Given the description of an element on the screen output the (x, y) to click on. 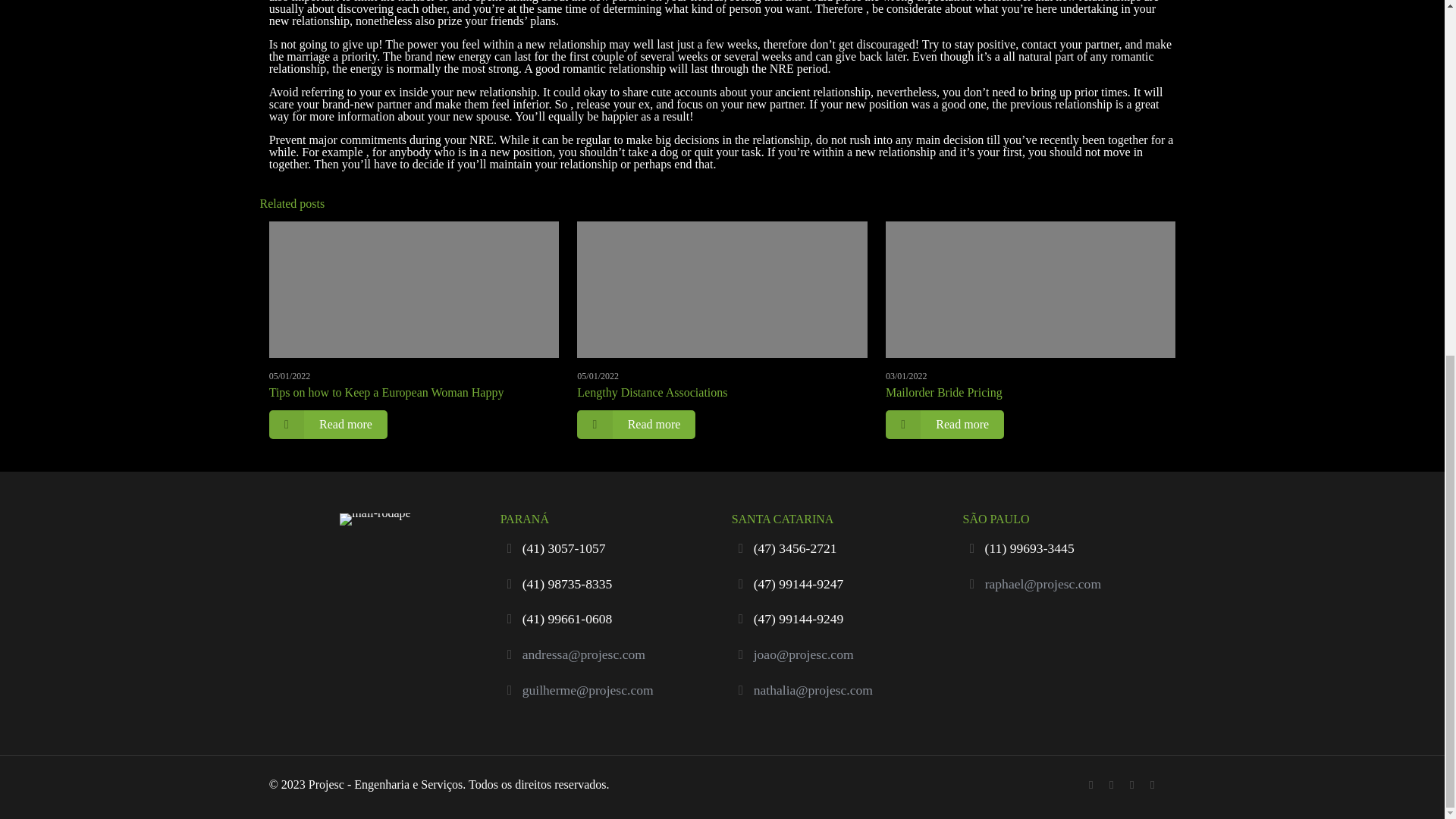
Lengthy Distance Associations (651, 391)
LinkedIn (1132, 784)
WhatsApp (1091, 784)
Read more (328, 424)
Facebook (1111, 784)
Read more (635, 424)
Mailorder Bride Pricing (944, 391)
Read more (944, 424)
mail-rodape (374, 519)
Tips on how to Keep a European Woman Happy (386, 391)
